Given the description of an element on the screen output the (x, y) to click on. 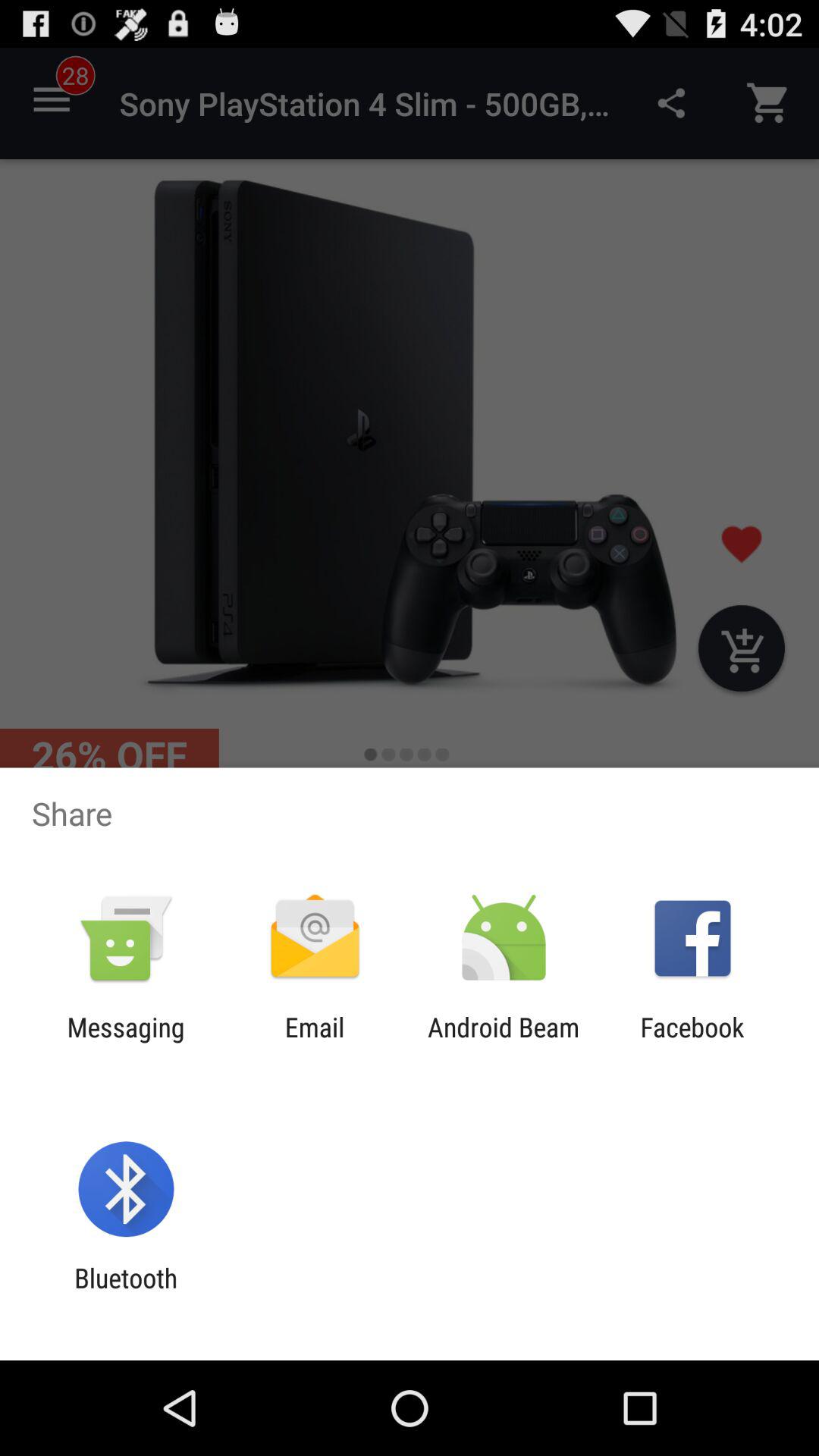
jump until the bluetooth (125, 1293)
